Given the description of an element on the screen output the (x, y) to click on. 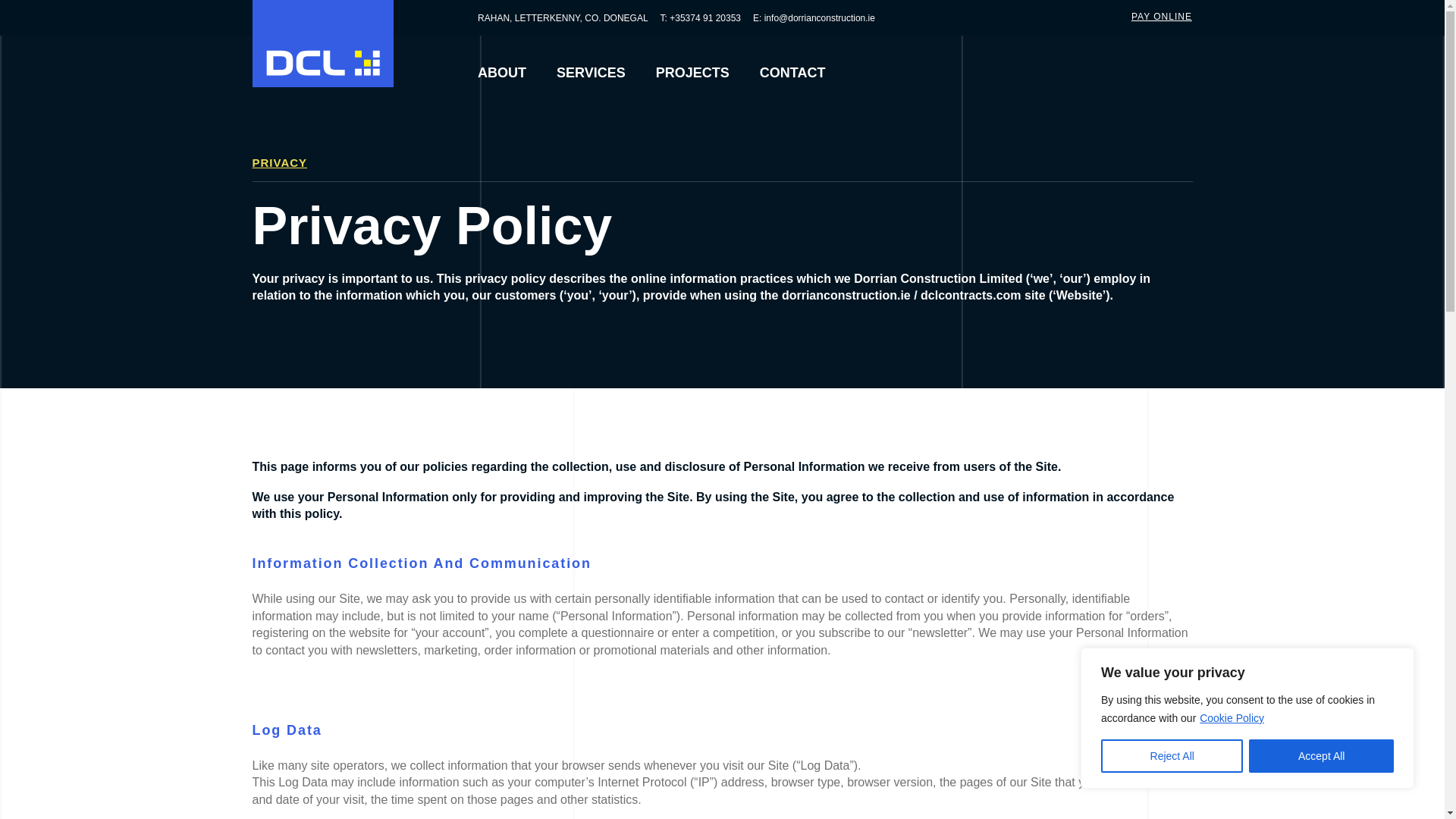
CONTACT (792, 72)
SERVICES (591, 72)
PAY ONLINE (1161, 16)
PROJECTS (692, 72)
ABOUT (501, 72)
Cookie Policy (1231, 717)
Accept All (1321, 756)
Reject All (1171, 756)
RAHAN, LETTERKENNY, CO. DONEGAL (562, 17)
